Given the description of an element on the screen output the (x, y) to click on. 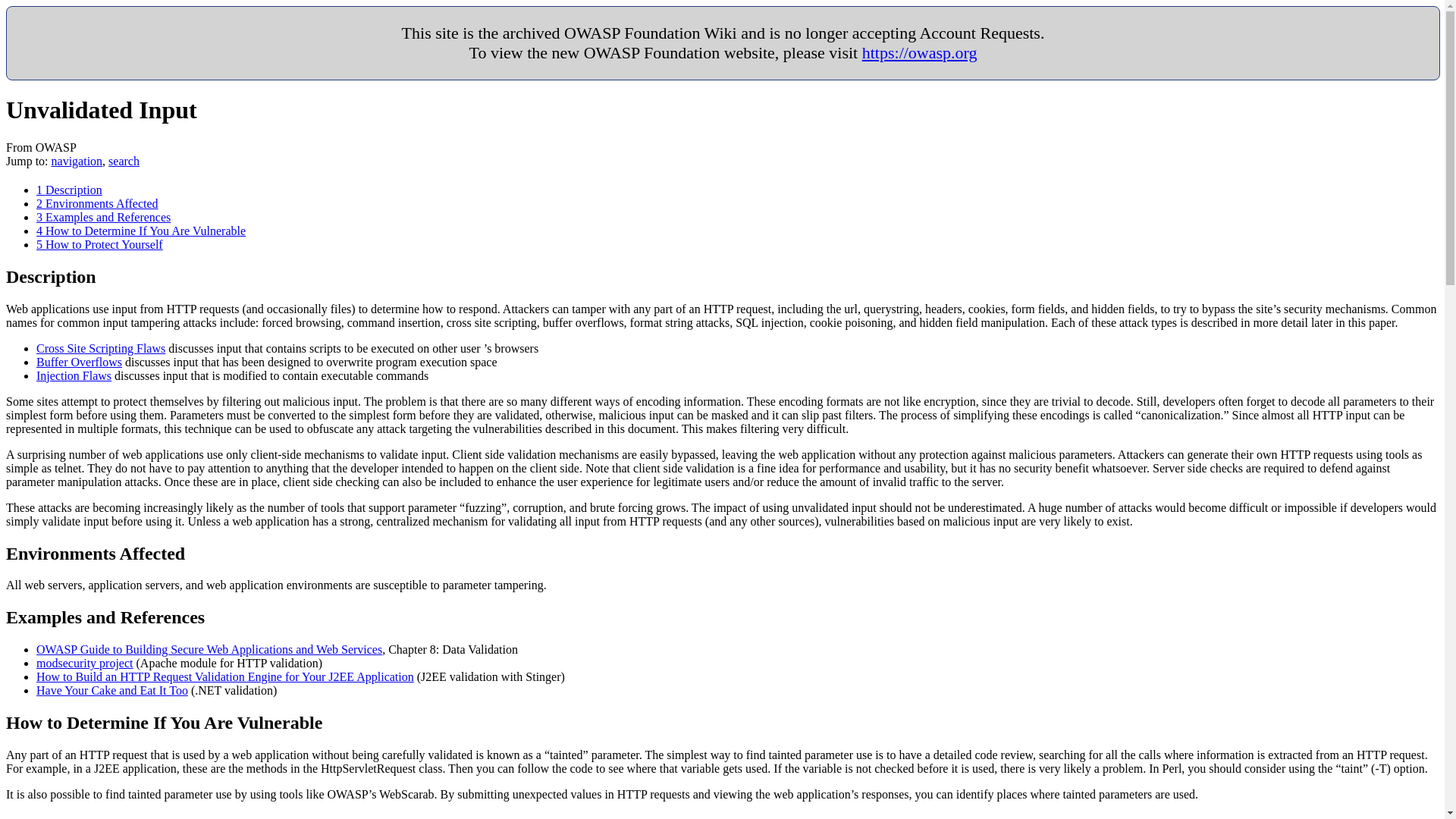
5 How to Protect Yourself (99, 244)
Injection Flaws (74, 375)
modsecurity project (84, 662)
navigation (76, 160)
Category:OWASP Guide Project (208, 649)
2 Environments Affected (97, 203)
Have Your Cake and Eat It Too (111, 689)
4 How to Determine If You Are Vulnerable (141, 230)
Buffer Overflow (79, 361)
